Given the description of an element on the screen output the (x, y) to click on. 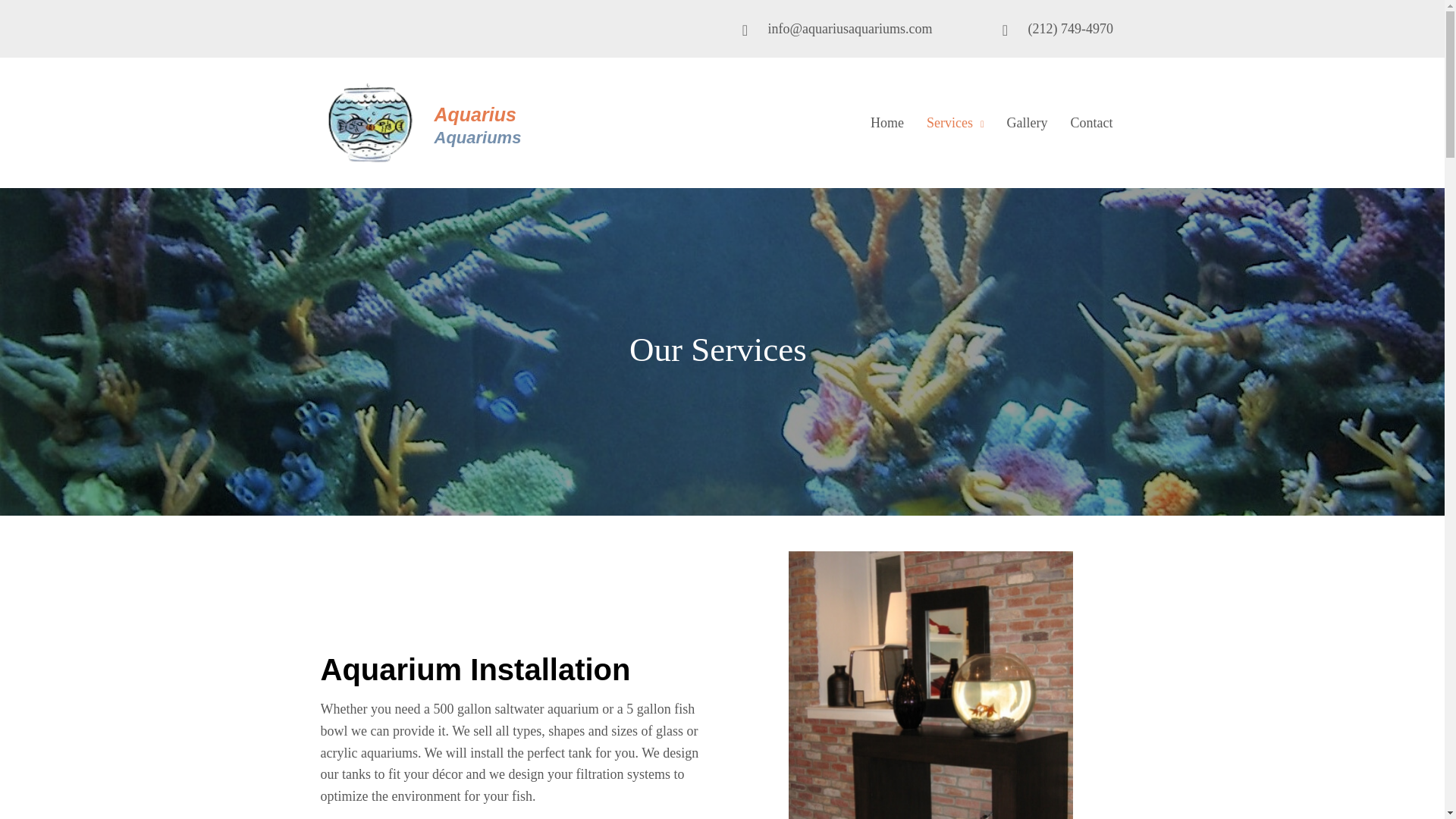
Gallery (1026, 122)
Services (954, 122)
556 (369, 122)
Home (887, 122)
Contact (1091, 122)
